Given the description of an element on the screen output the (x, y) to click on. 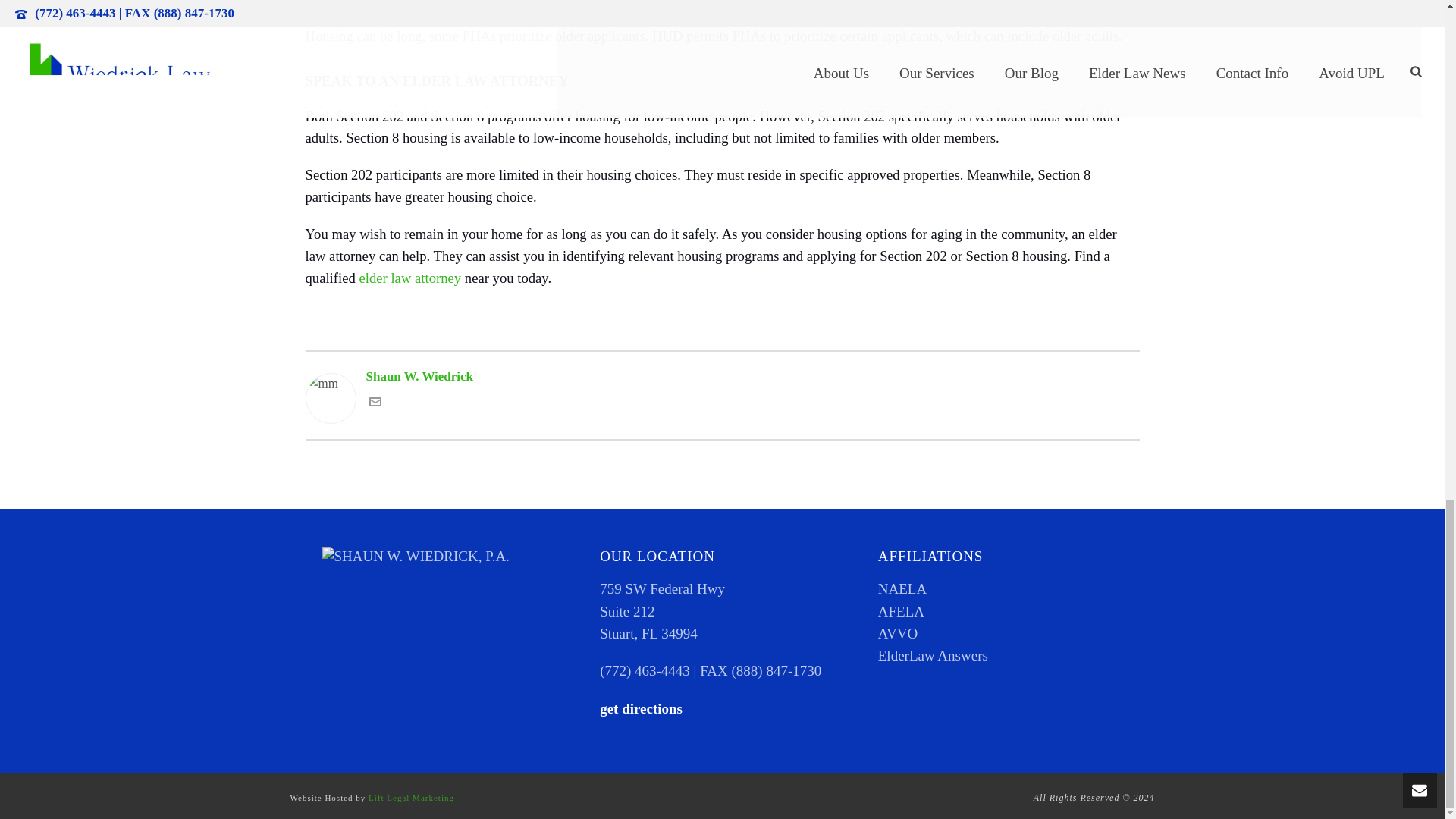
agency directory (854, 13)
get directions (640, 708)
Shaun W. Wiedrick (721, 376)
elder law attorney (409, 277)
Lift Legal Marketing (411, 797)
